Given the description of an element on the screen output the (x, y) to click on. 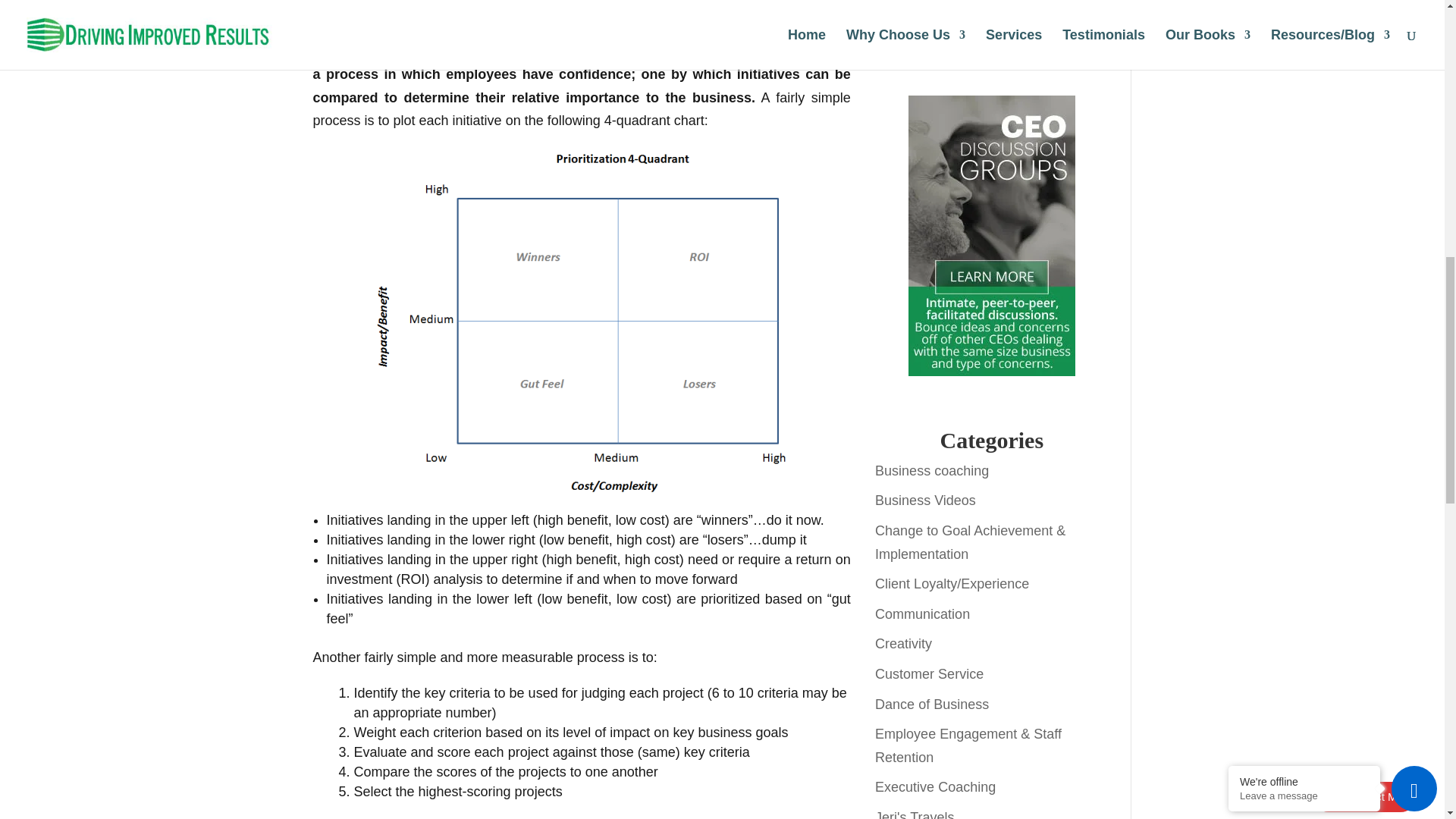
Categories (991, 439)
